Given the description of an element on the screen output the (x, y) to click on. 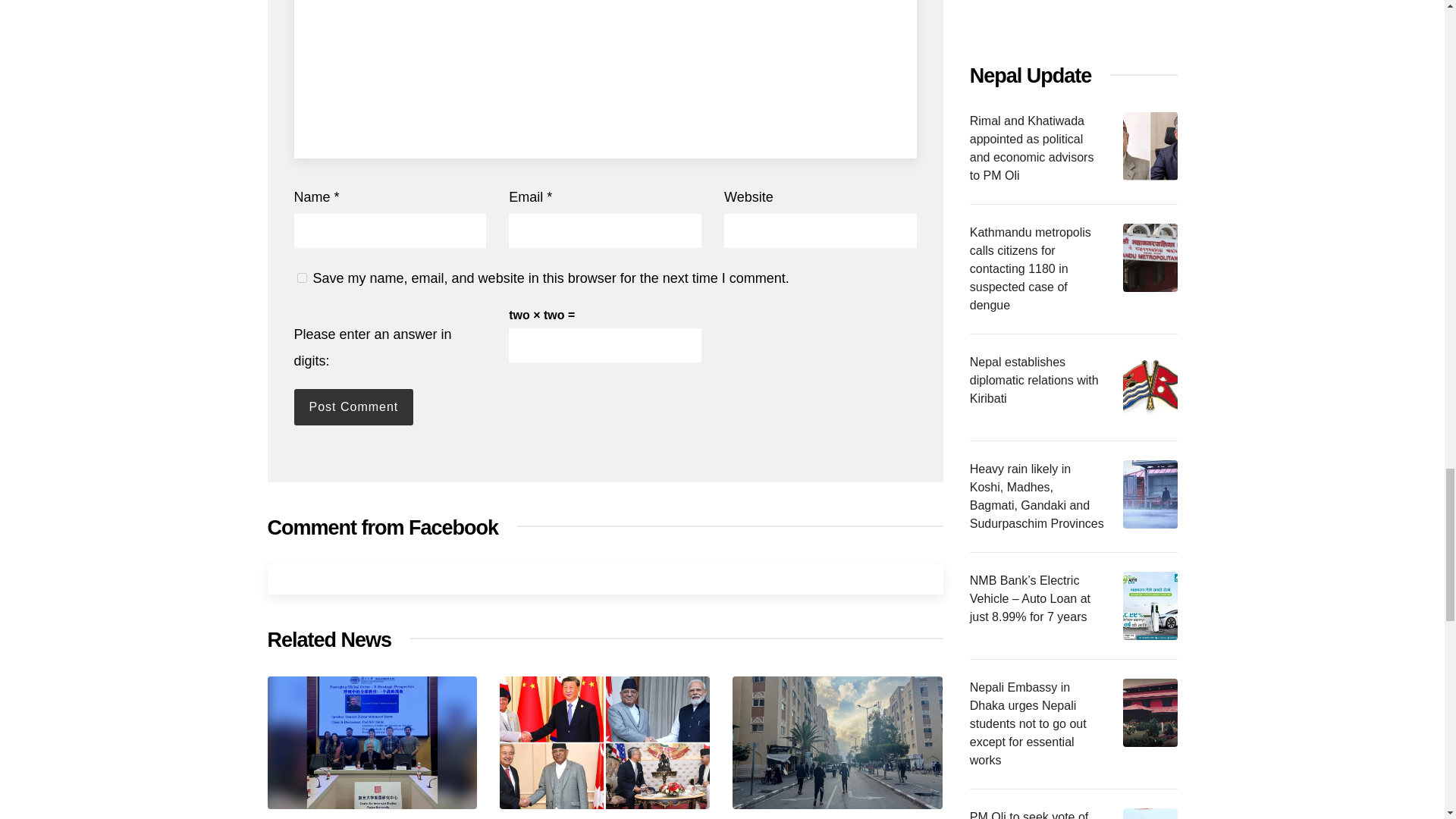
Post Comment (353, 407)
yes (302, 277)
